Given the description of an element on the screen output the (x, y) to click on. 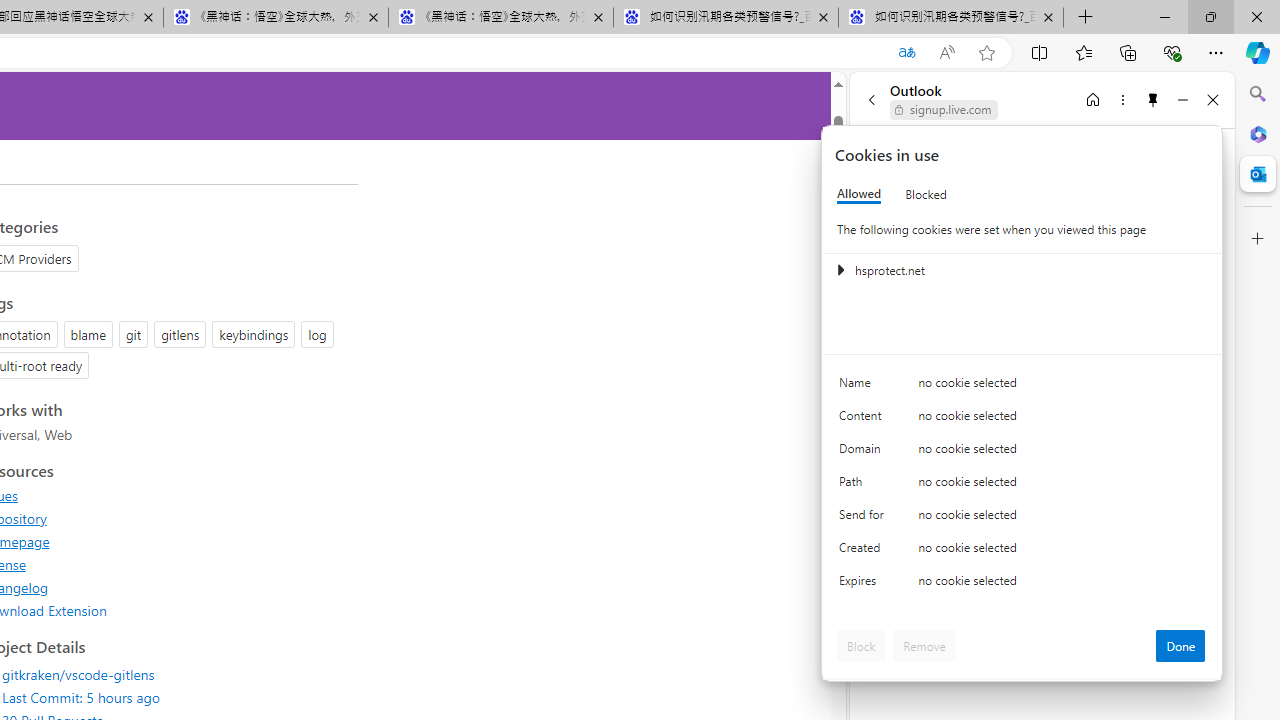
Path (864, 485)
Block (861, 645)
Expires (864, 585)
Domain (864, 452)
Name (864, 387)
Blocked (925, 193)
Class: c0153 c0157 c0154 (1023, 386)
no cookie selected (1062, 585)
Allowed (859, 193)
Class: c0153 c0157 (1023, 584)
Send for (864, 518)
Done (1179, 645)
Content (864, 420)
Remove (924, 645)
Created (864, 552)
